Given the description of an element on the screen output the (x, y) to click on. 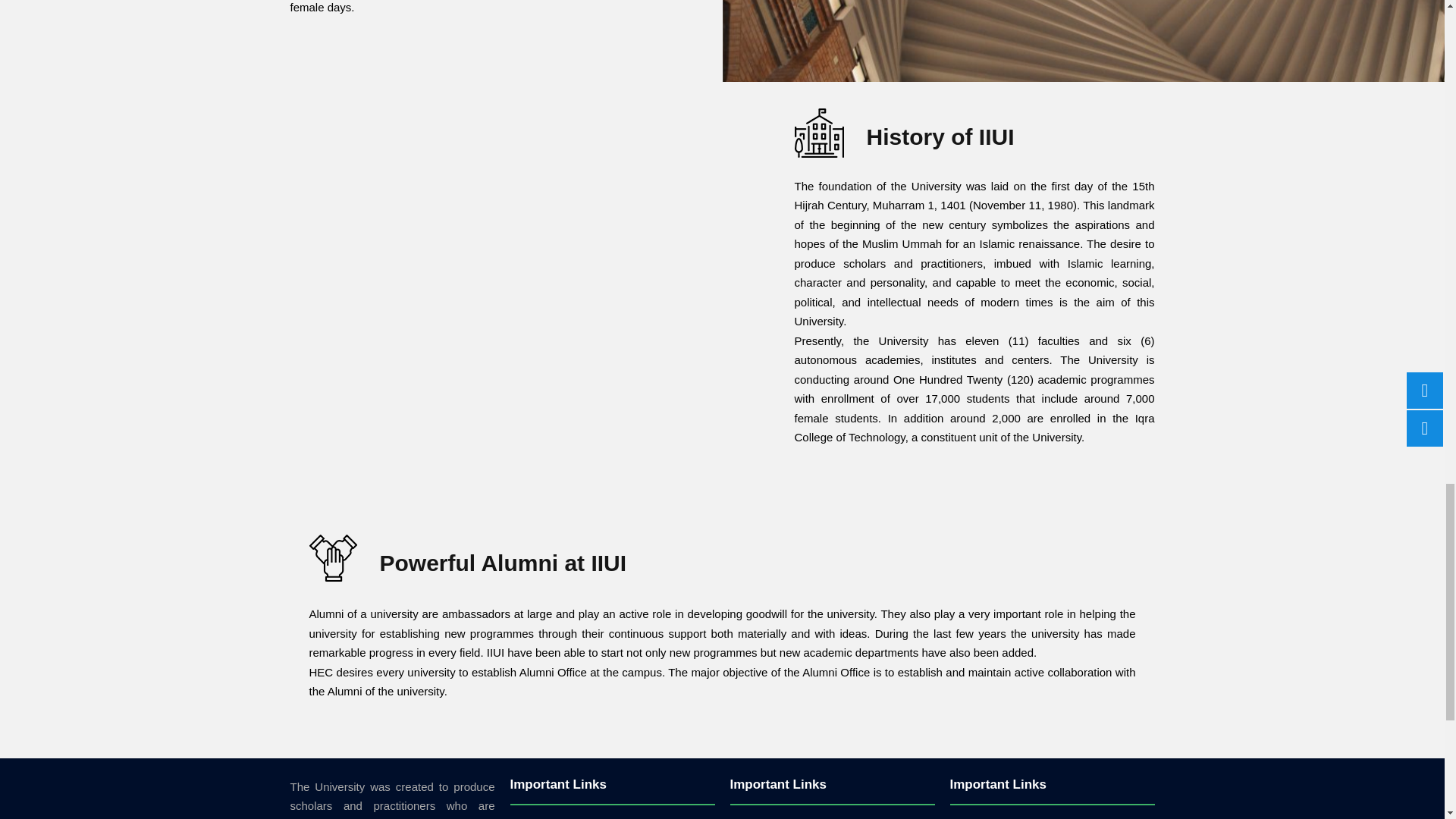
about-icon-1 (819, 133)
about-icon-3 (332, 557)
